Given the description of an element on the screen output the (x, y) to click on. 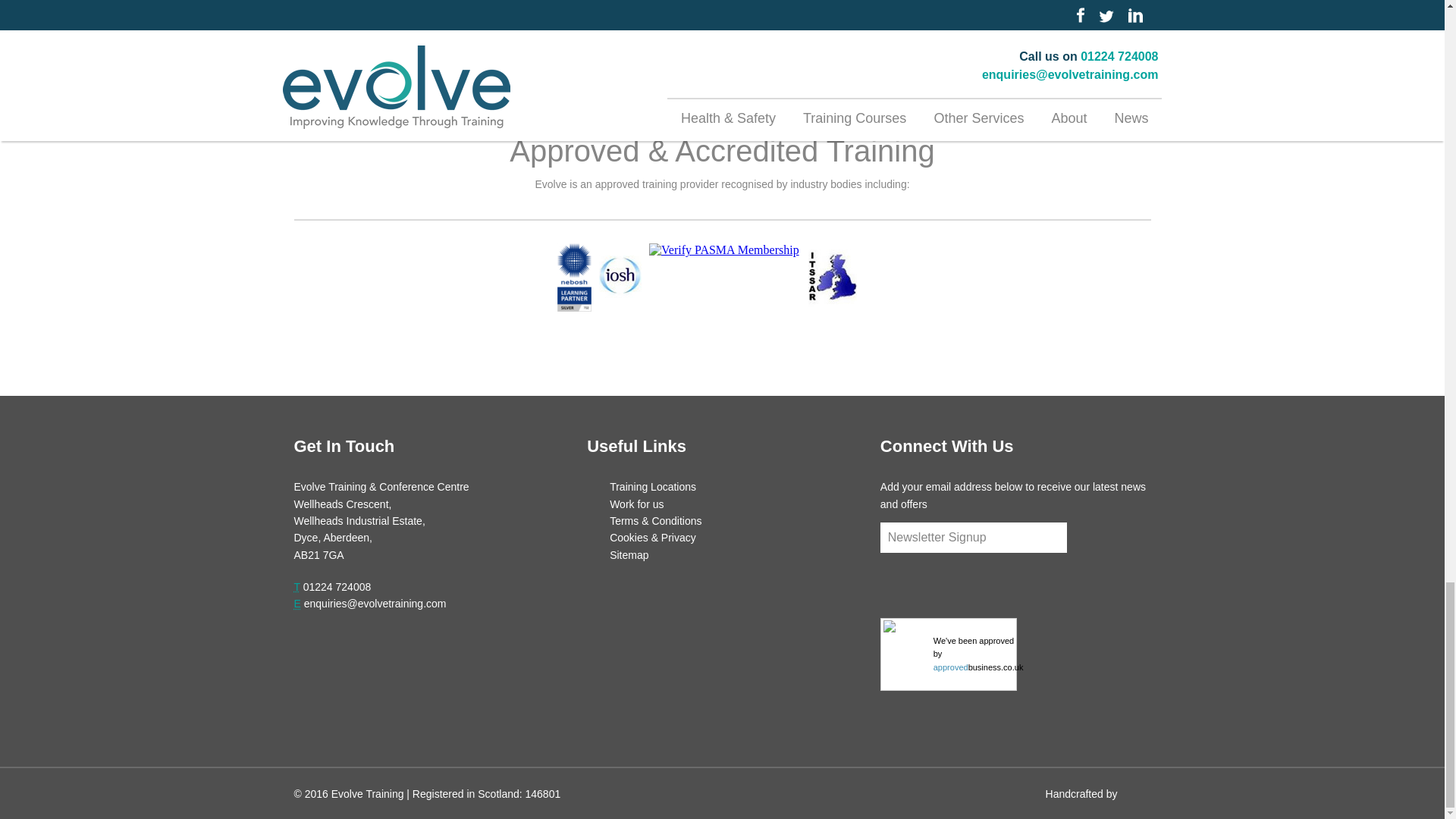
we've been approved by www.approvedbusiness.co.uk (978, 653)
